Given the description of an element on the screen output the (x, y) to click on. 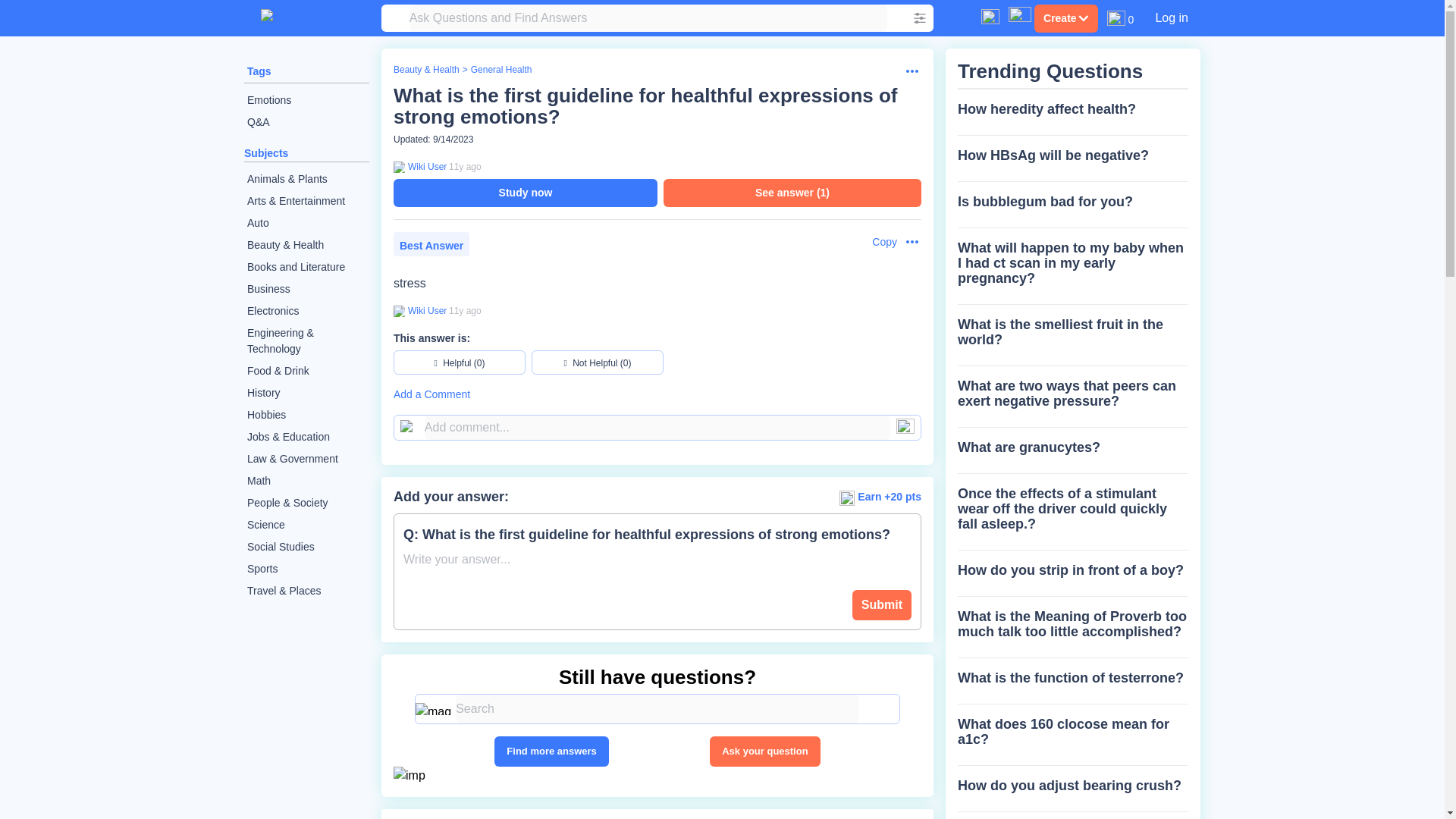
Log in (1170, 17)
Find more answers (551, 751)
Science (306, 525)
2012-10-15 20:41:02 (464, 310)
History (306, 393)
Ask your question (764, 751)
General Health (501, 69)
Study now (525, 193)
Business (306, 289)
